Given the description of an element on the screen output the (x, y) to click on. 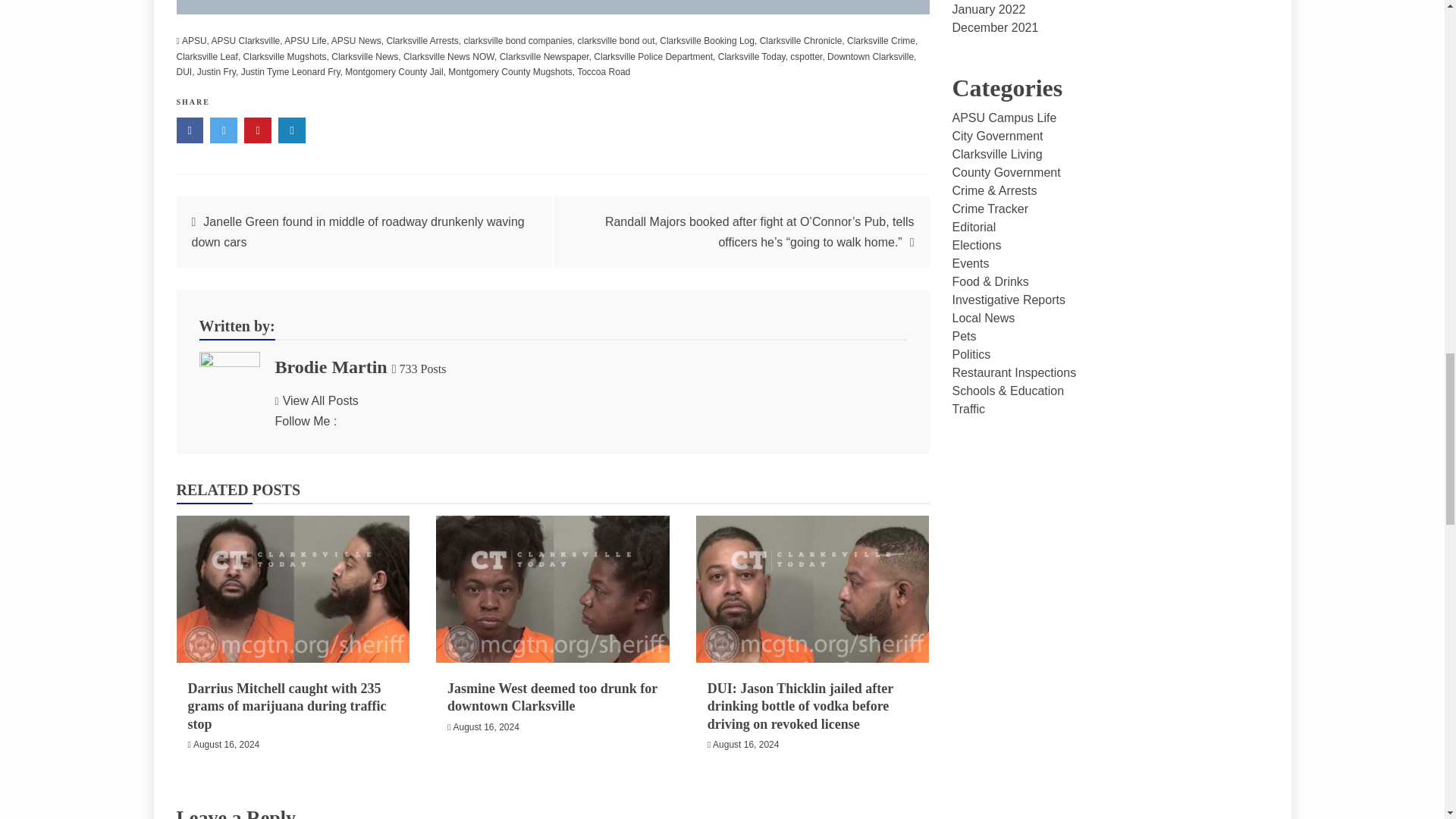
APSU Clarksville (246, 40)
APSU Life (304, 40)
clarksville bond companies (517, 40)
Clarksville Booking Log (706, 40)
Clarksville News NOW (449, 56)
Clarksville Crime (881, 40)
Downtown Clarksville (870, 56)
Clarksville Police Department (653, 56)
Clarksville Arrests (421, 40)
Clarksville Today (751, 56)
